Given the description of an element on the screen output the (x, y) to click on. 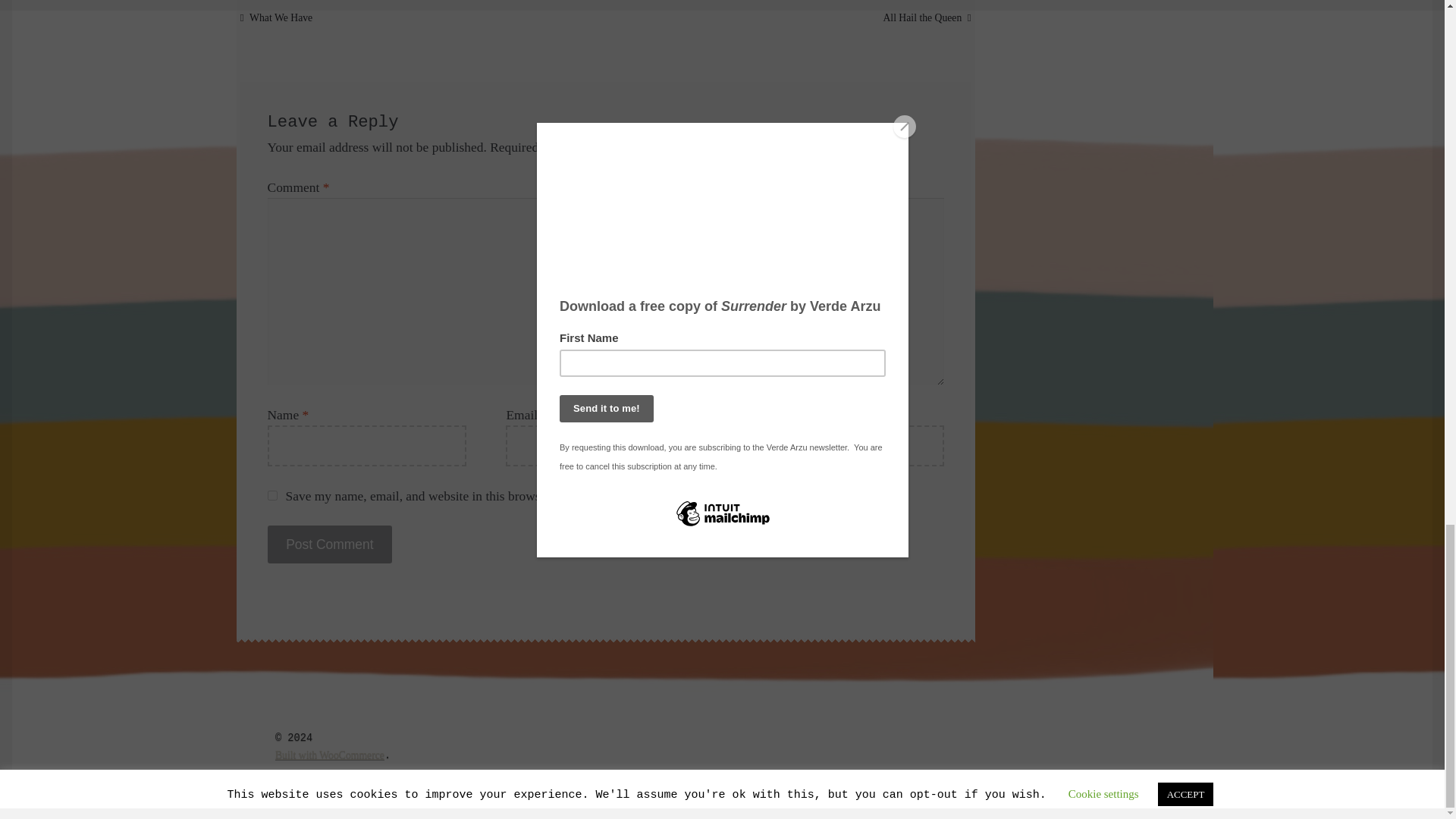
Post Comment (330, 544)
yes (272, 495)
WooCommerce - The Best eCommerce Platform for WordPress (329, 754)
